Given the description of an element on the screen output the (x, y) to click on. 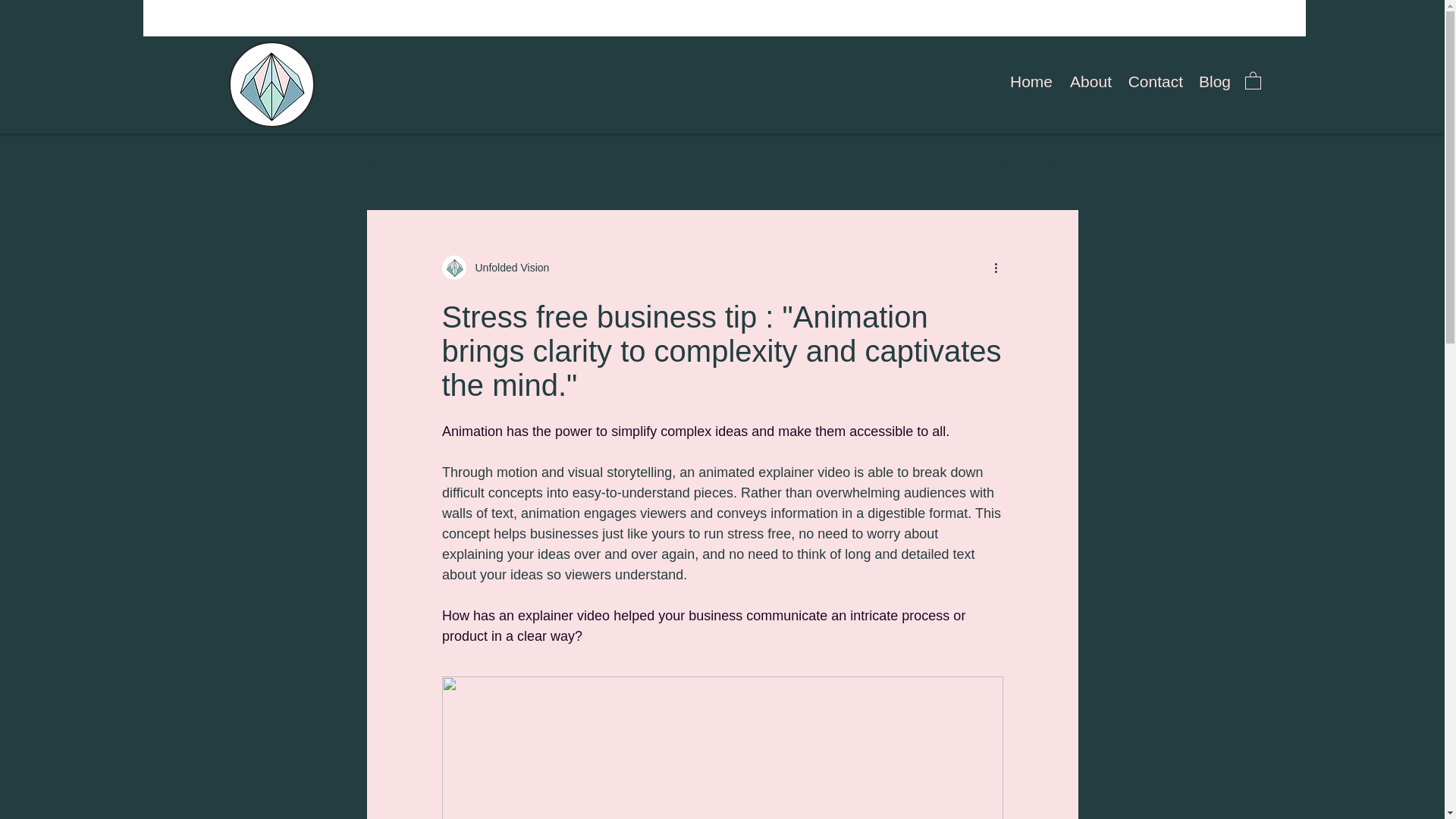
All Posts (390, 163)
Contact (1155, 81)
Home (1030, 81)
About (1089, 81)
Unfolded Vision (506, 267)
Blog (1215, 81)
